Given the description of an element on the screen output the (x, y) to click on. 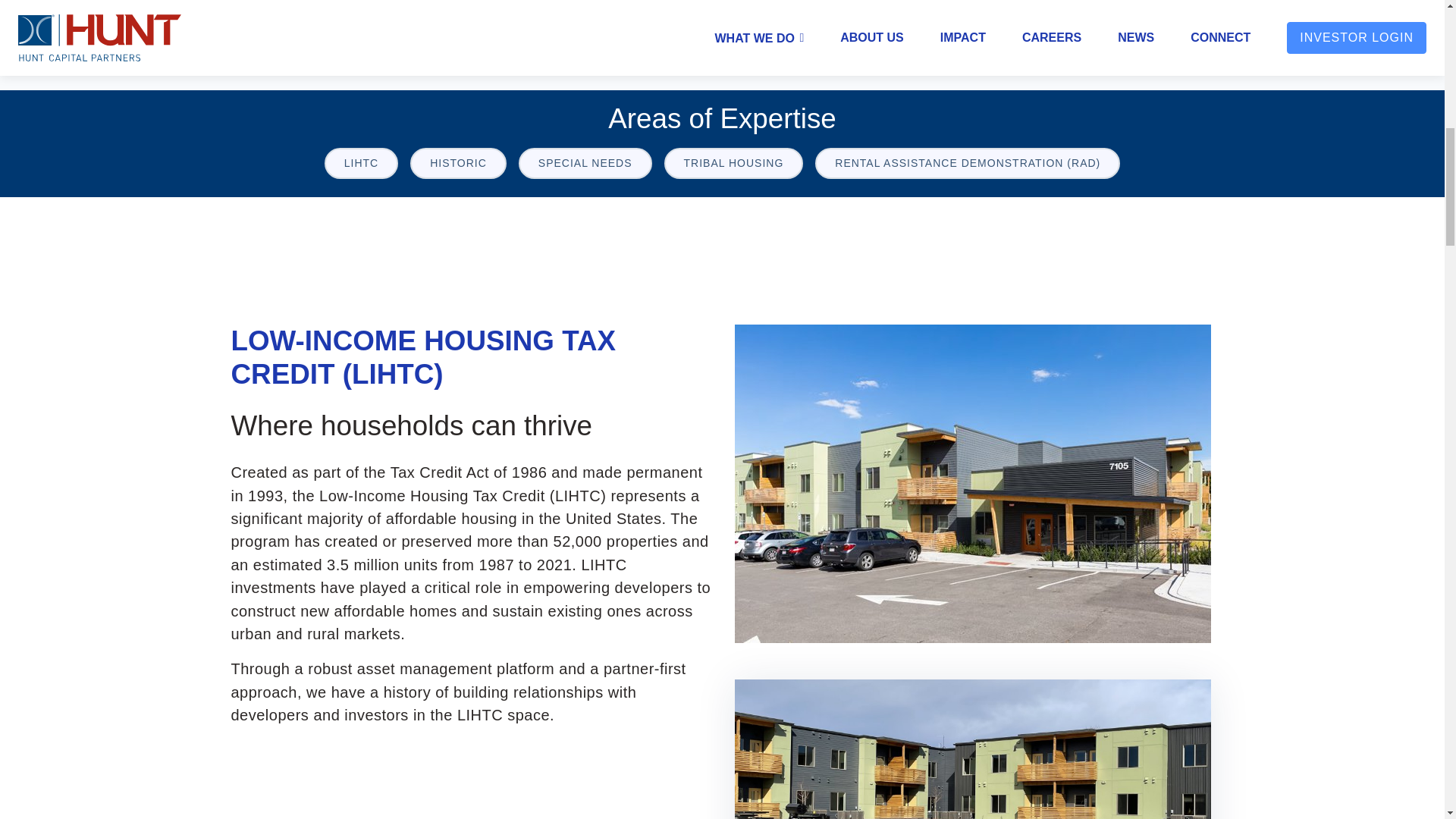
TRIBAL HOUSING (733, 163)
HISTORIC (458, 163)
SPECIAL NEEDS (585, 163)
LIHTC (360, 163)
